Given the description of an element on the screen output the (x, y) to click on. 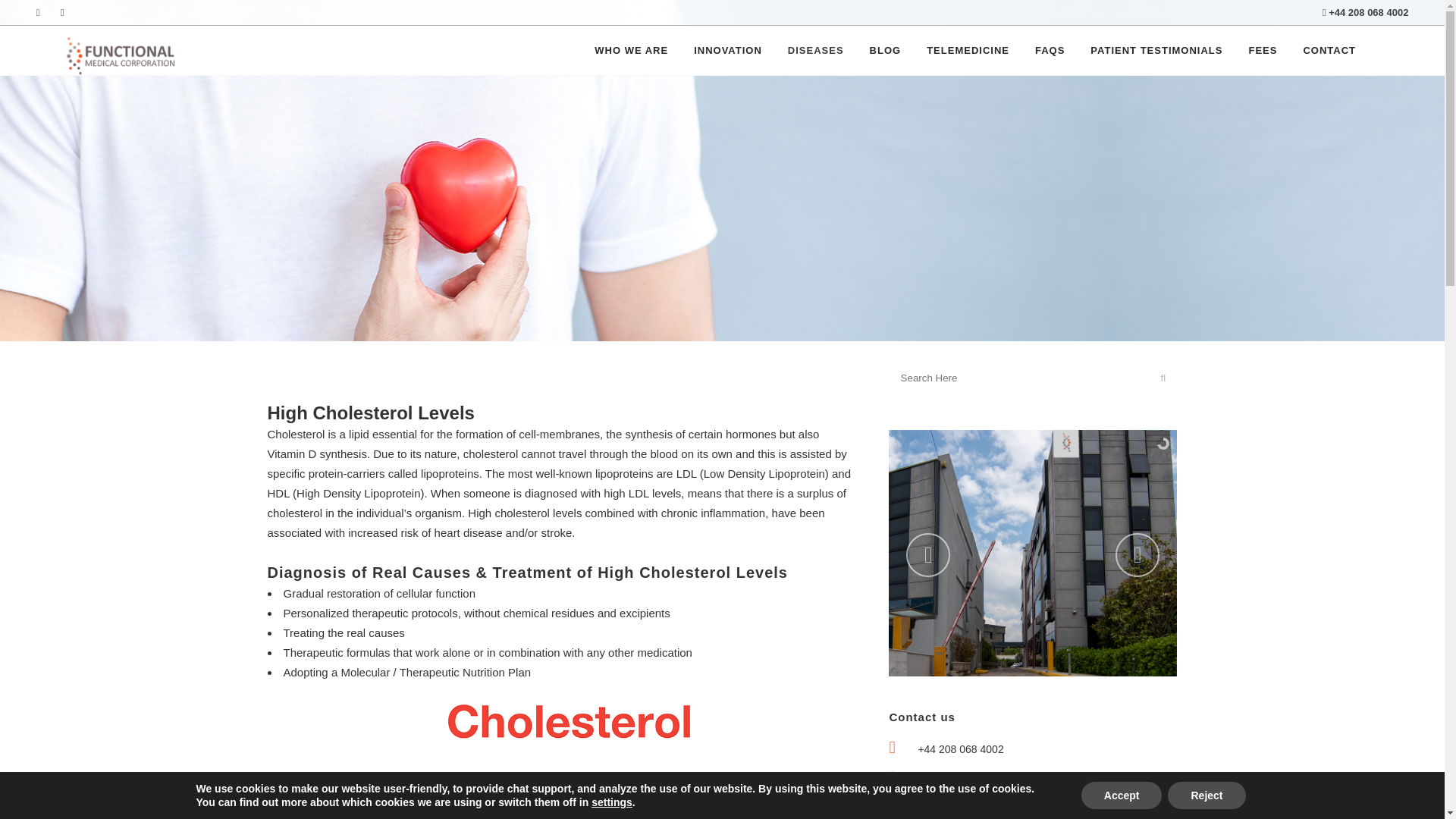
INNOVATION (727, 50)
DISEASES (815, 50)
WHO WE ARE (630, 50)
